Given the description of an element on the screen output the (x, y) to click on. 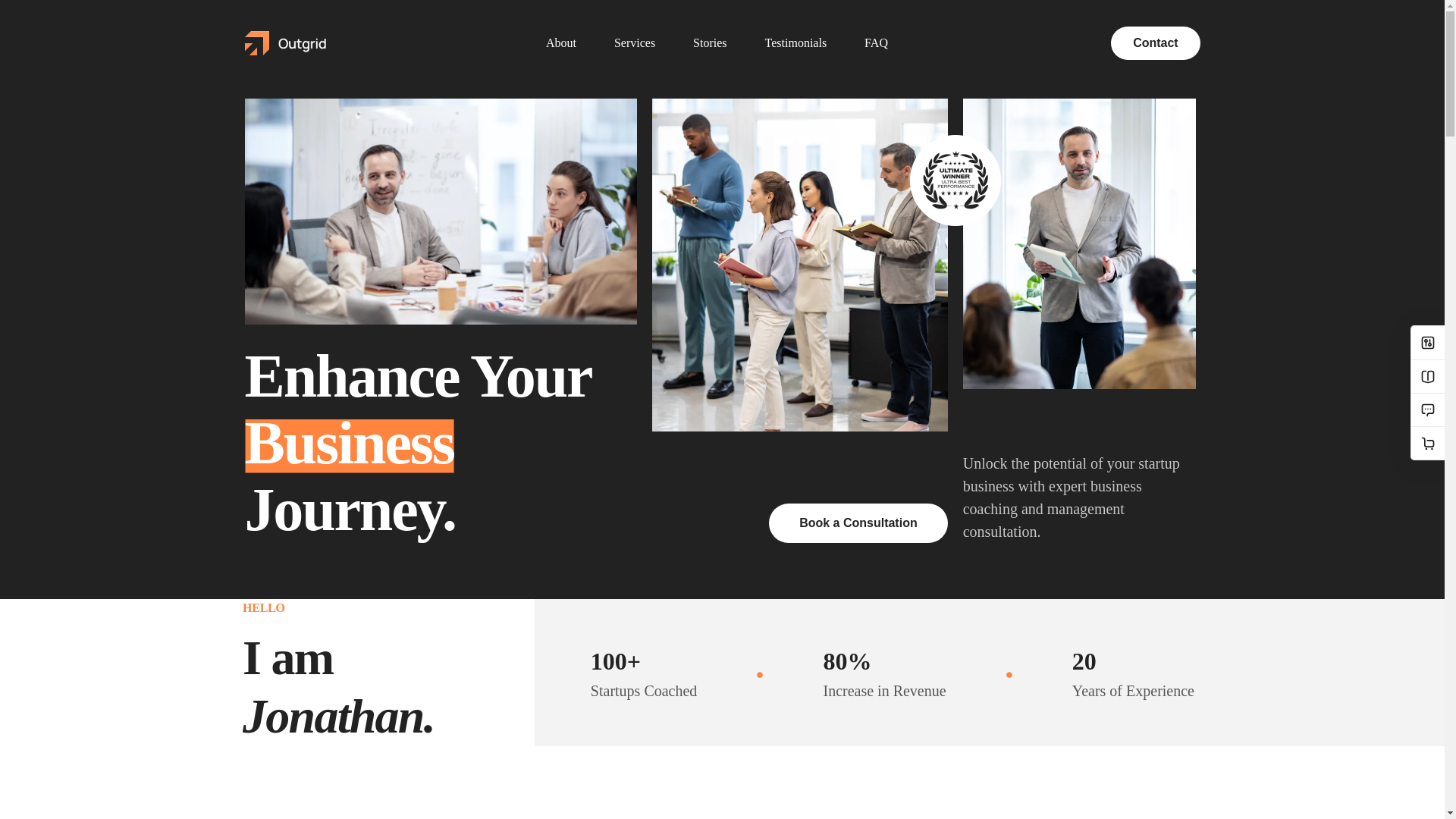
Services (634, 42)
Contact (1154, 42)
Testimonials (795, 42)
Book a Consultation (857, 537)
